Given the description of an element on the screen output the (x, y) to click on. 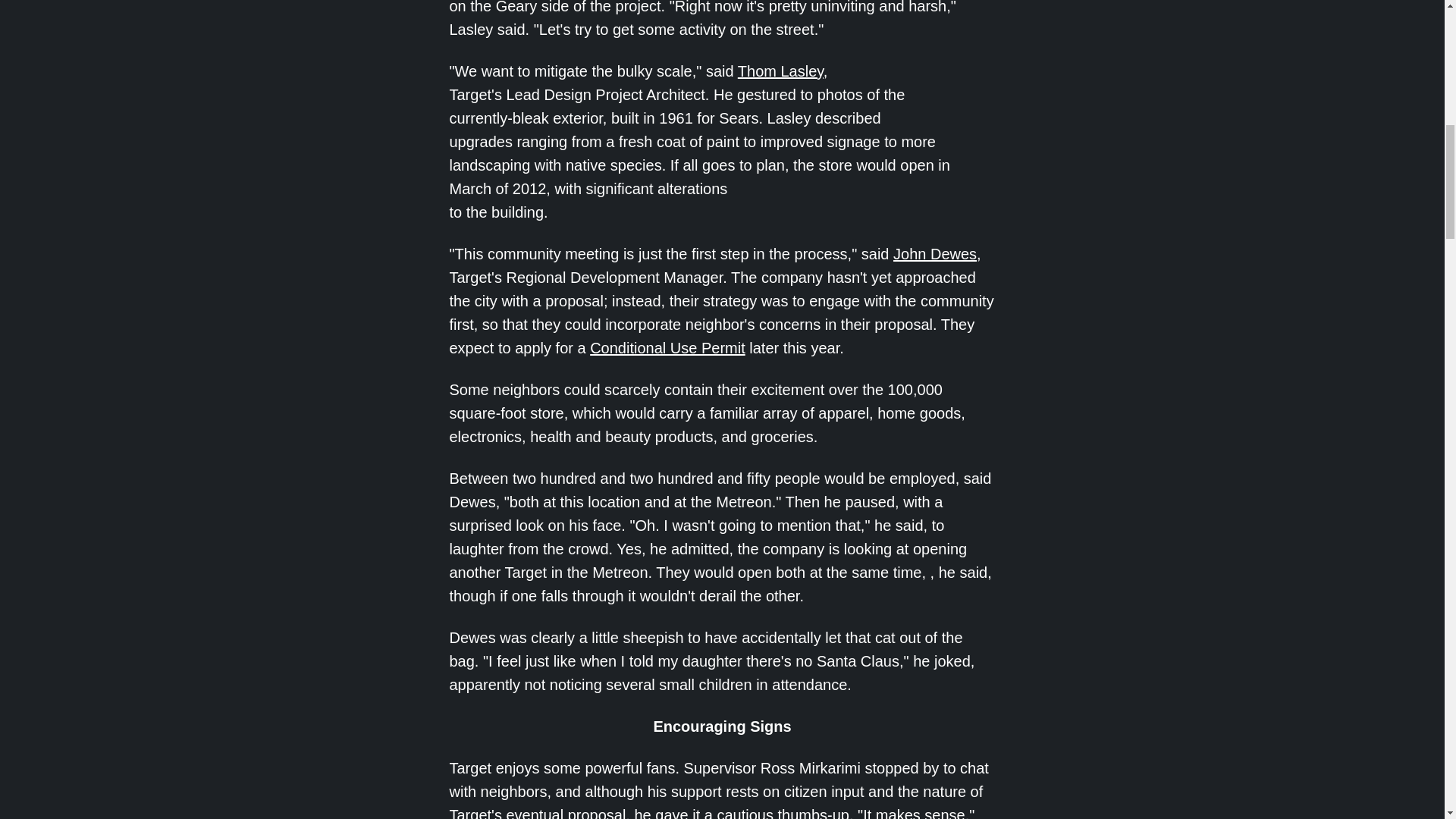
Thom Lasley (781, 71)
John Dewes (934, 253)
Conditional Use Permit (667, 347)
